Given the description of an element on the screen output the (x, y) to click on. 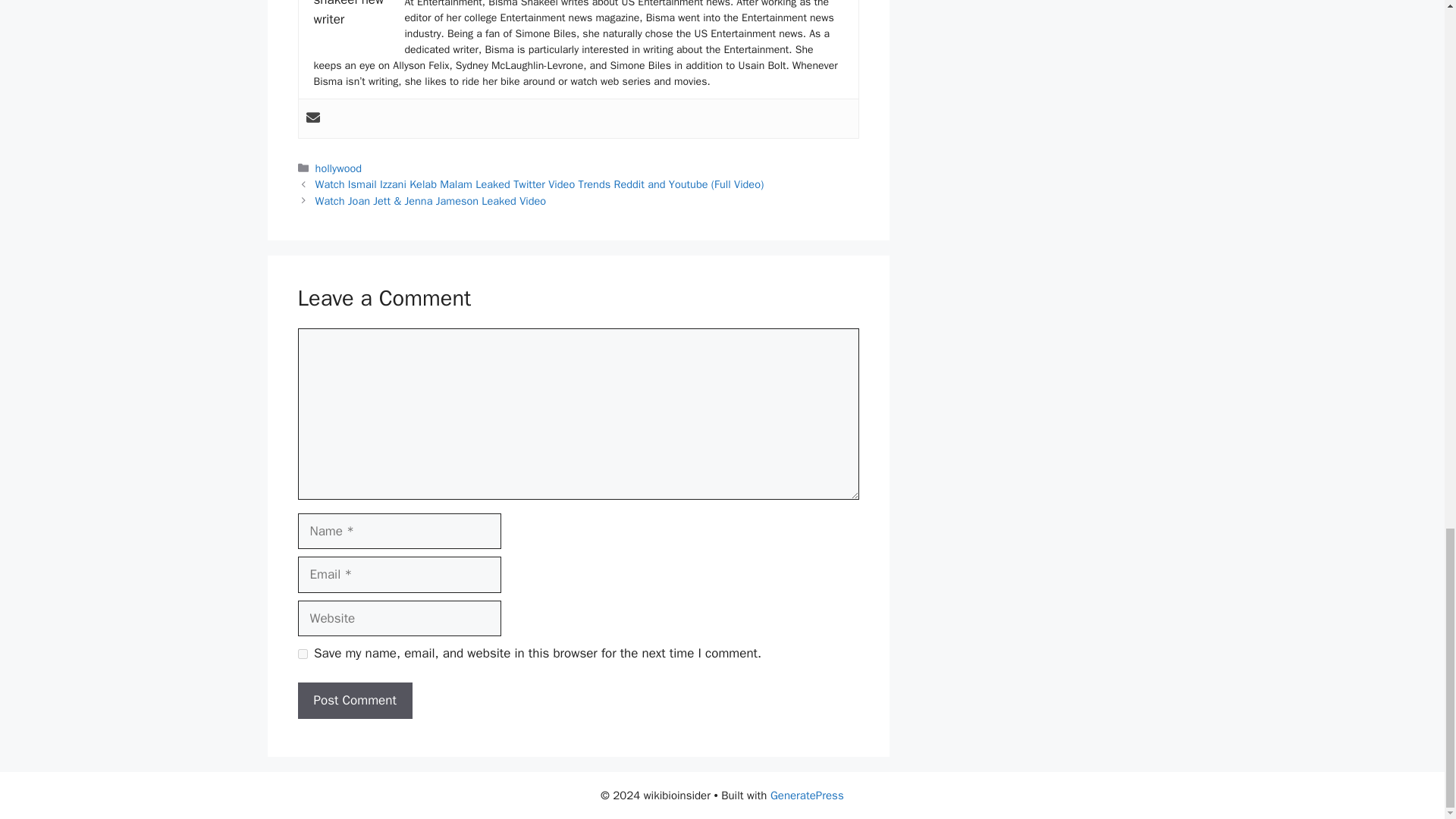
GeneratePress (807, 795)
yes (302, 654)
hollywood (338, 168)
Post Comment (354, 700)
Post Comment (354, 700)
